Given the description of an element on the screen output the (x, y) to click on. 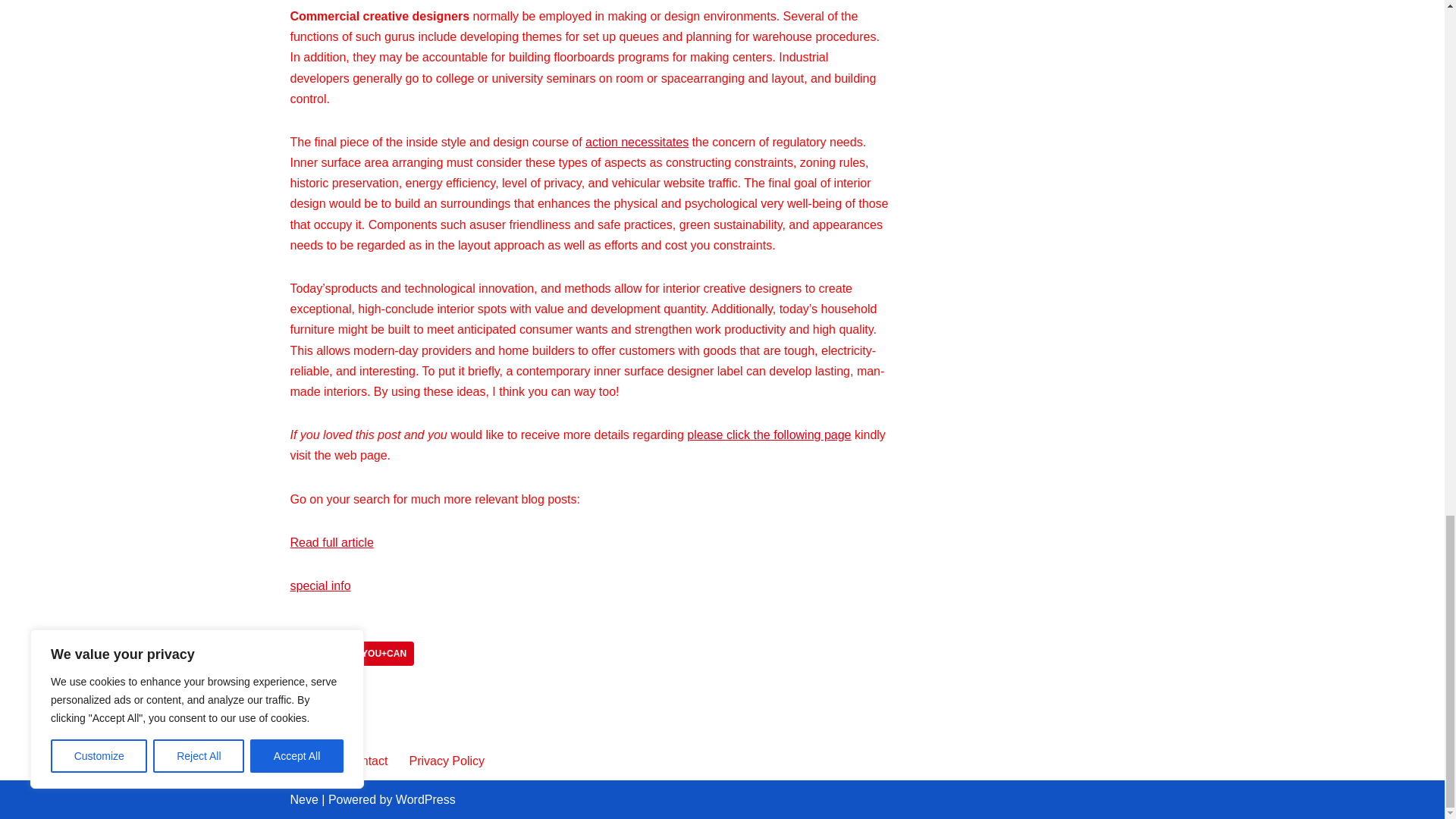
action necessitates (636, 141)
please click the following page (768, 434)
Read full article (330, 542)
special info (319, 585)
